Given the description of an element on the screen output the (x, y) to click on. 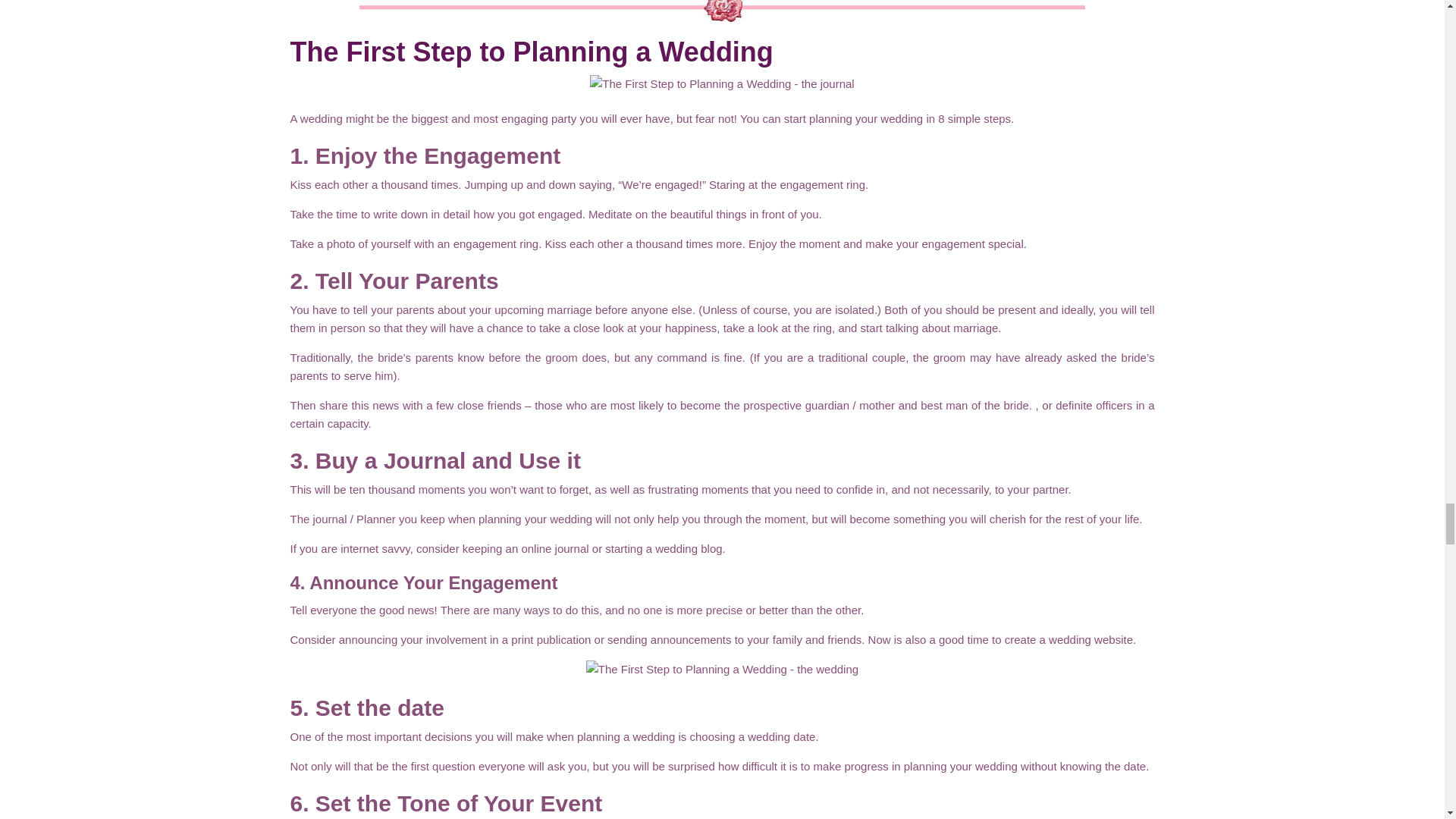
The First Step to Planning a Wedding (531, 51)
